Given the description of an element on the screen output the (x, y) to click on. 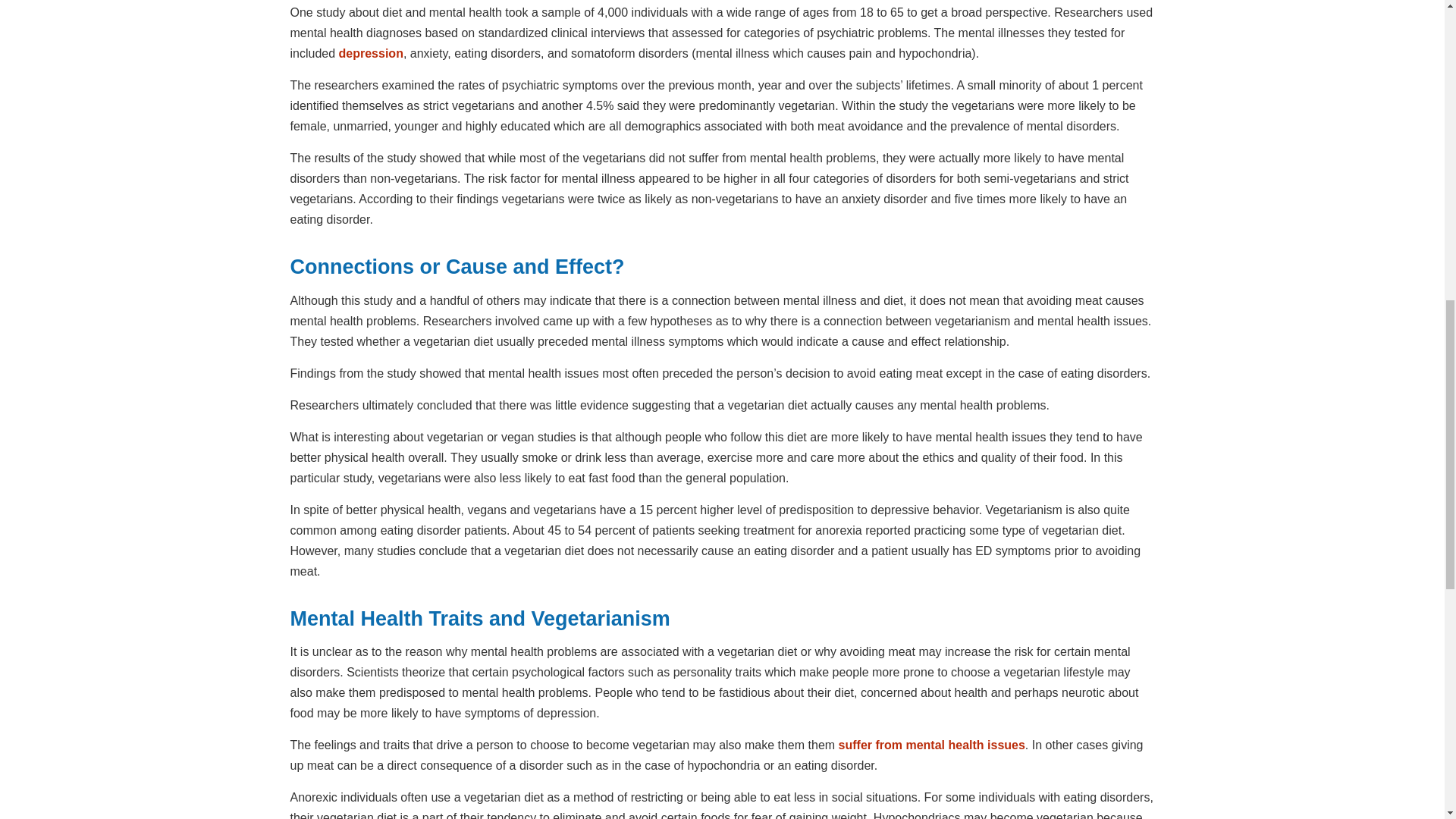
depression (371, 52)
suffer from mental health issues (931, 744)
